Given the description of an element on the screen output the (x, y) to click on. 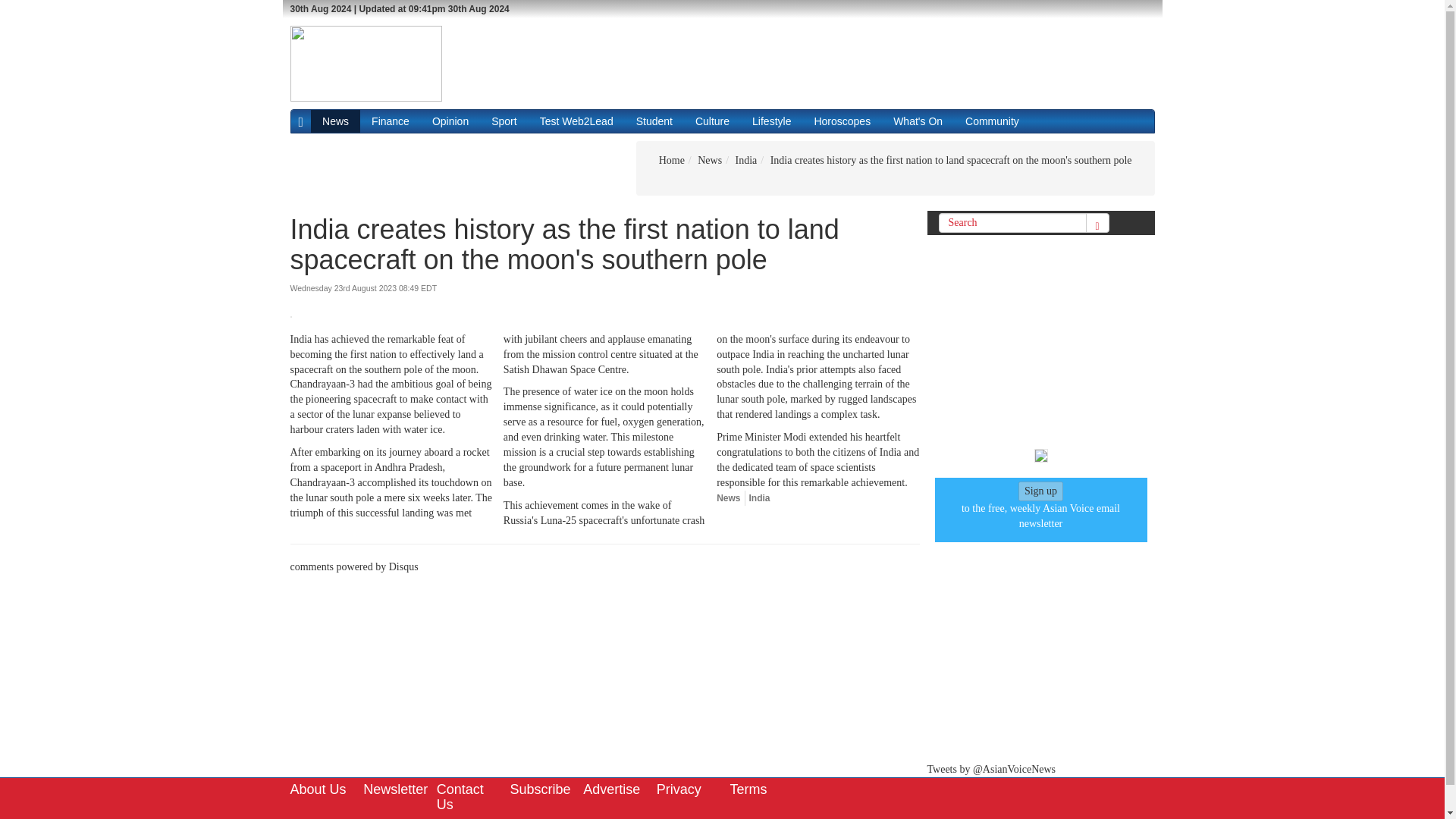
Contact Us (459, 797)
Test Web2Lead (576, 120)
Opinion (450, 120)
Sign up (1039, 491)
Culture (712, 120)
Privacy (678, 789)
Advertise (611, 789)
Sign up (1039, 490)
Student (654, 120)
News (727, 498)
